Given the description of an element on the screen output the (x, y) to click on. 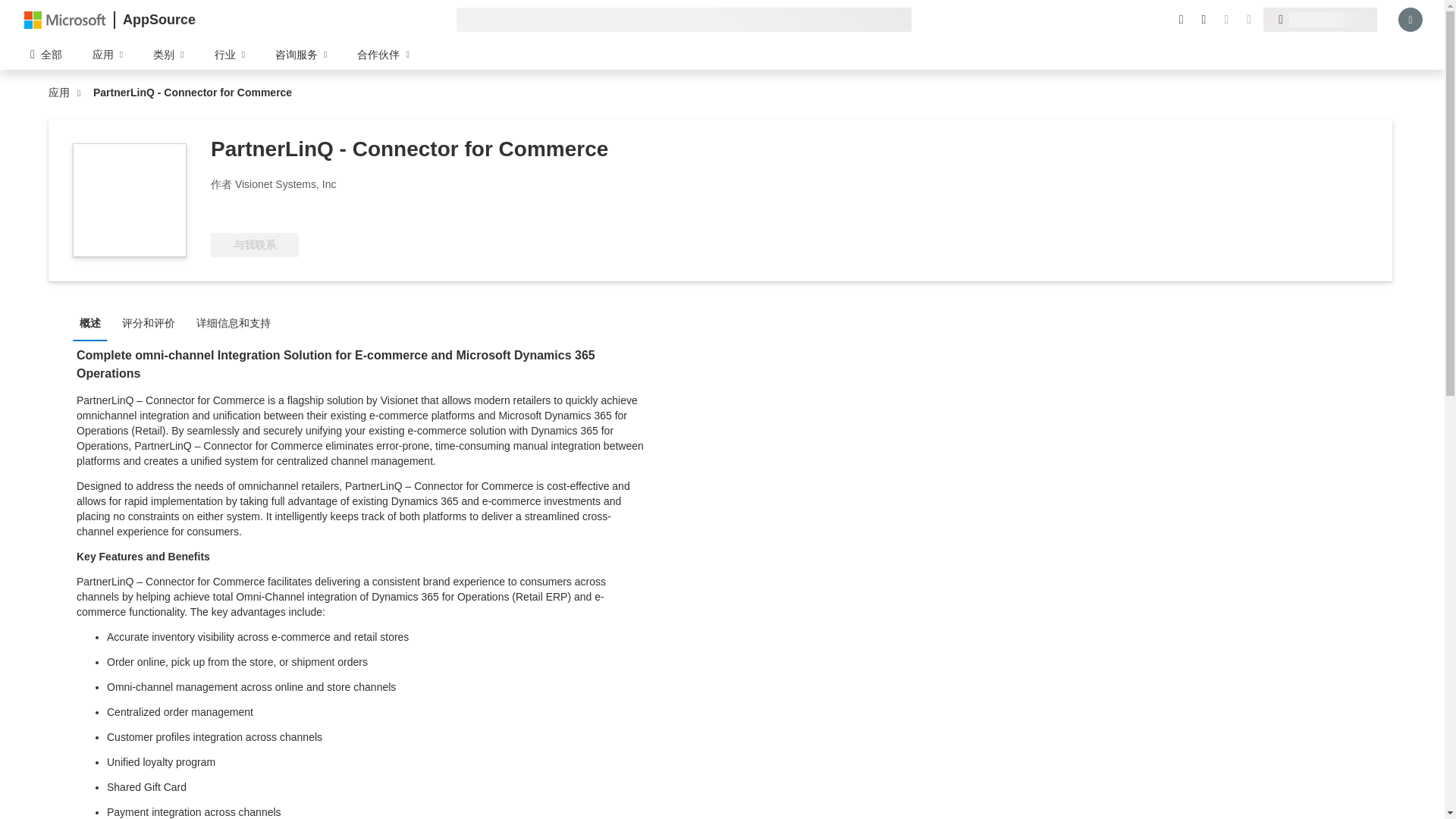
AppSource (158, 19)
Microsoft (65, 18)
